Given the description of an element on the screen output the (x, y) to click on. 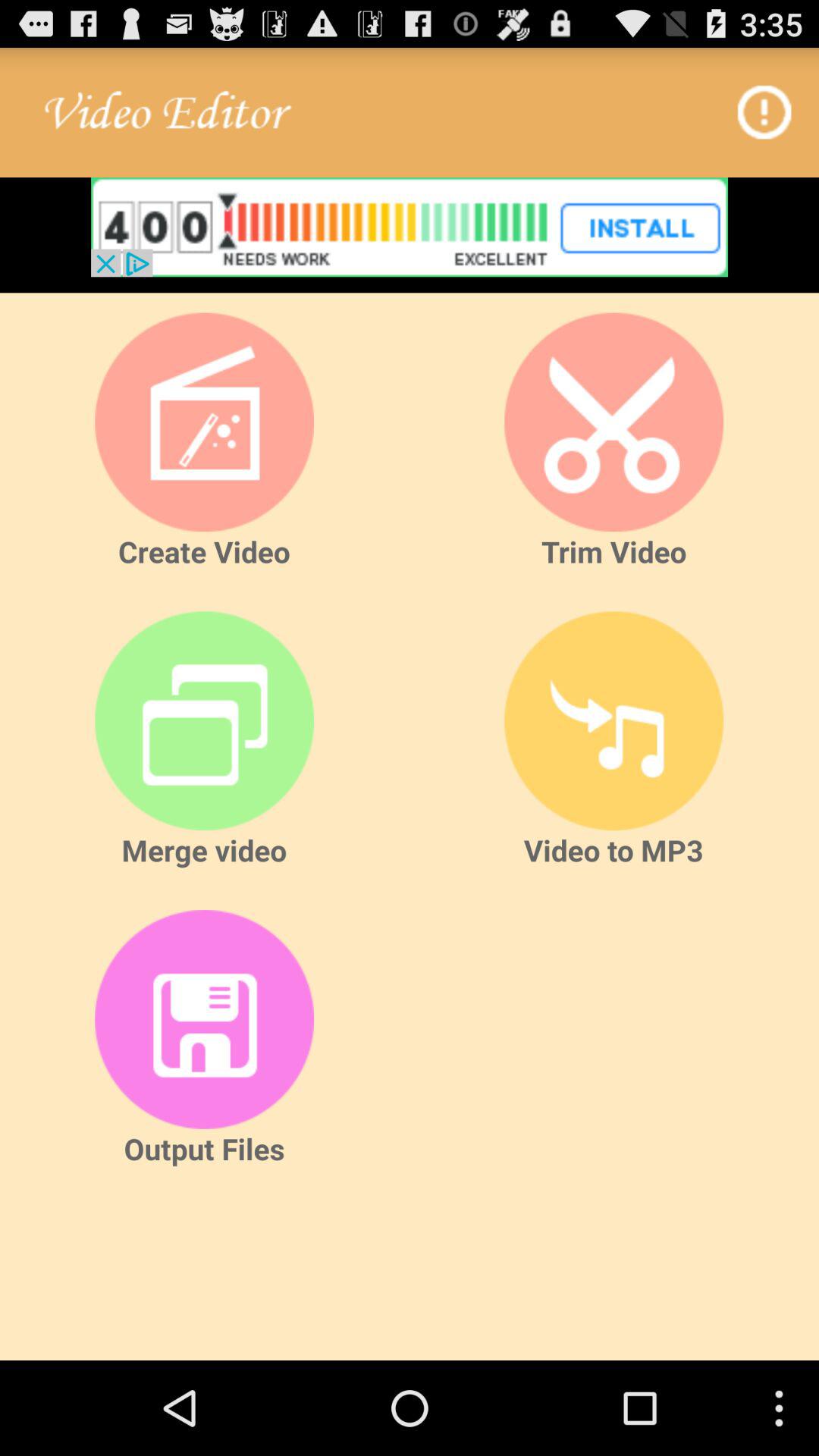
information (765, 112)
